Given the description of an element on the screen output the (x, y) to click on. 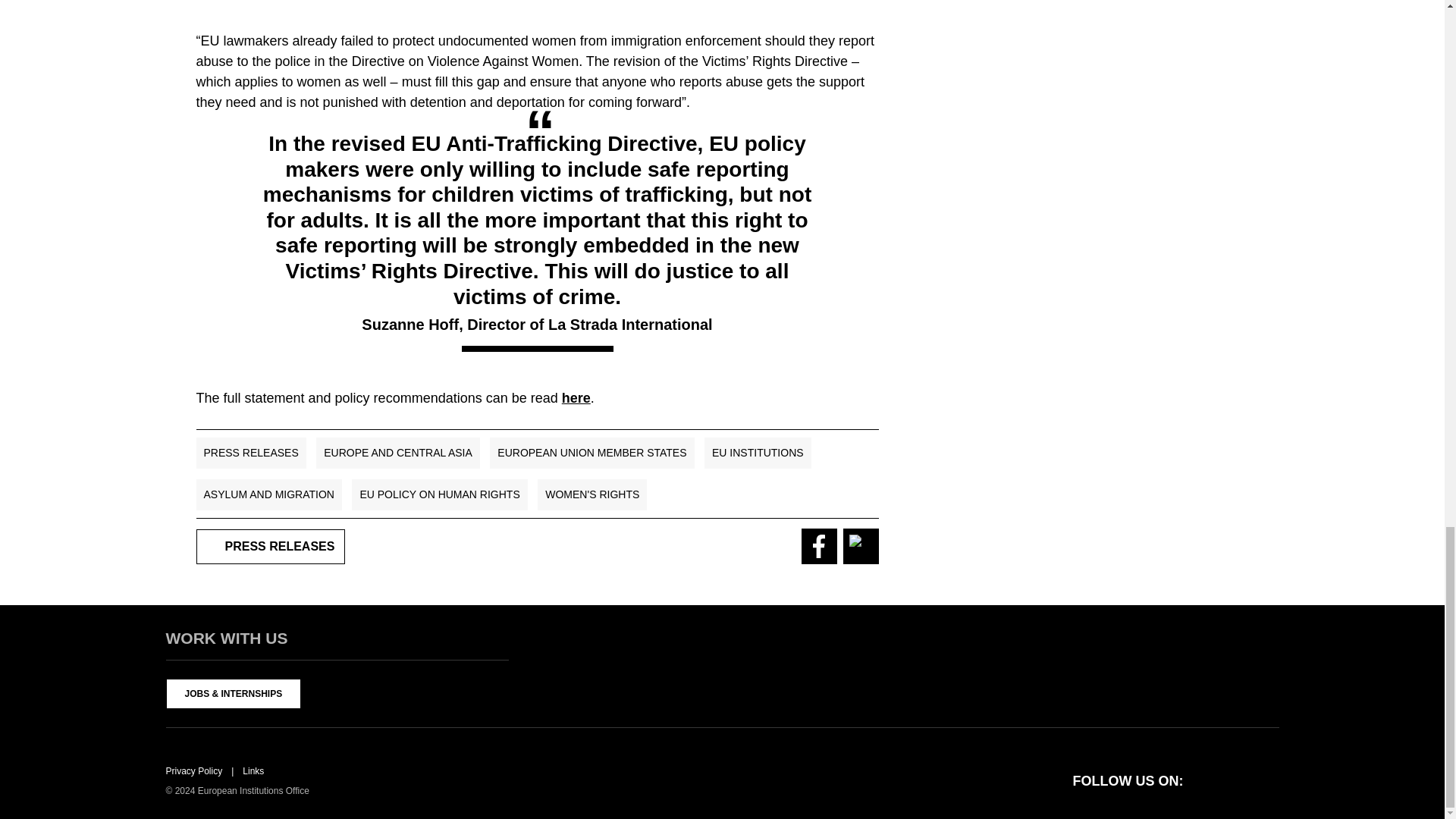
PRESS RELEASES (270, 546)
here (576, 397)
EU INSTITUTIONS (757, 452)
ASYLUM AND MIGRATION (267, 494)
Share on Facebook (817, 546)
PRESS RELEASES (250, 452)
EU POLICY ON HUMAN RIGHTS (439, 494)
EUROPEAN UNION MEMBER STATES (591, 452)
Share on Twitter (861, 546)
WOMEN'S RIGHTS (591, 494)
